Given the description of an element on the screen output the (x, y) to click on. 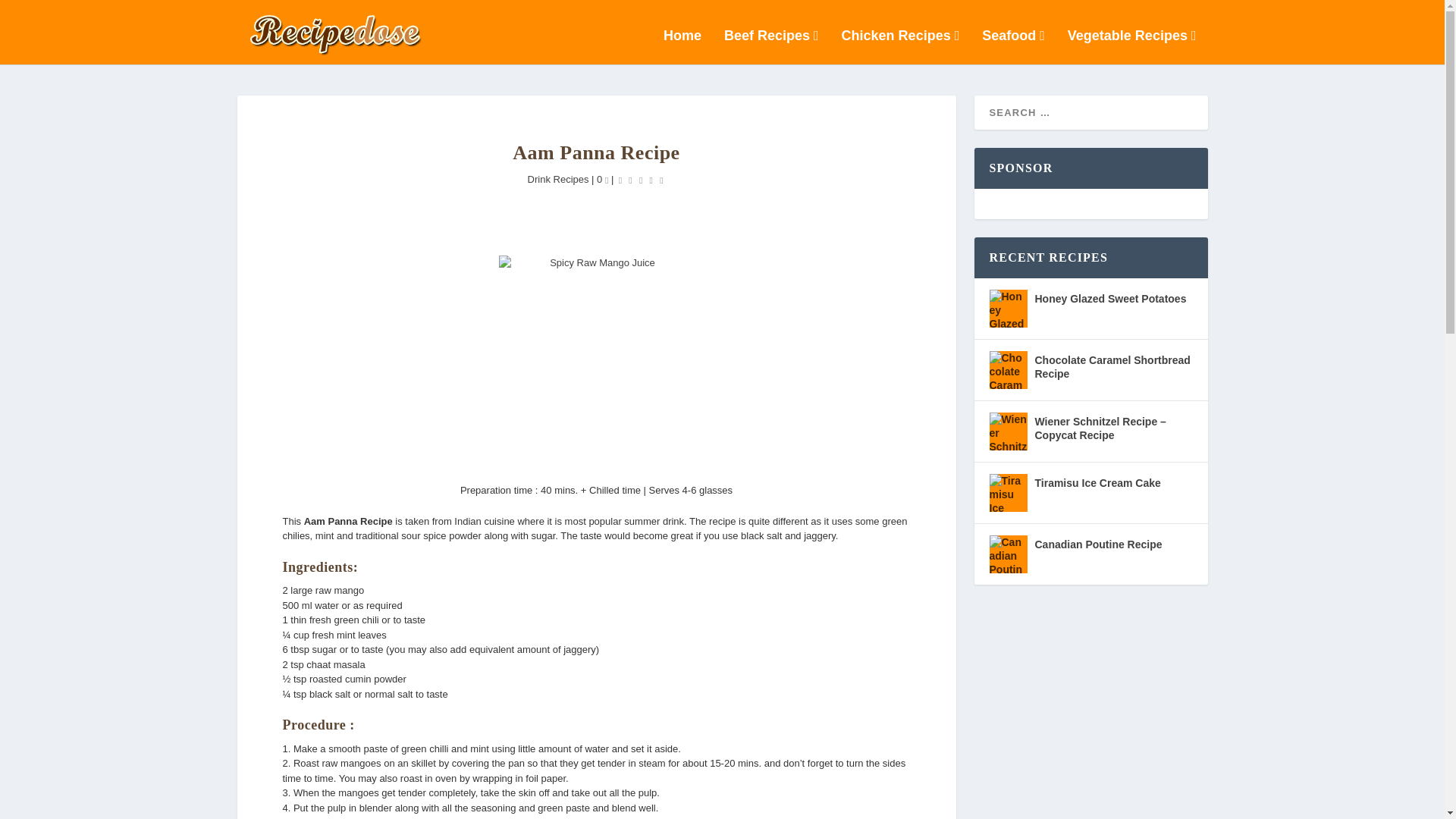
0 (602, 179)
Beef Recipes (770, 46)
Rating: 0.00 (640, 179)
Vegetable Recipes (1131, 46)
Chocolate Caramel Shortbread Recipe (1007, 370)
Drink Recipes (558, 179)
Home (682, 46)
Chicken Recipes (900, 46)
Seafood (1013, 46)
Honey Glazed Sweet Potatoes (1007, 308)
